Given the description of an element on the screen output the (x, y) to click on. 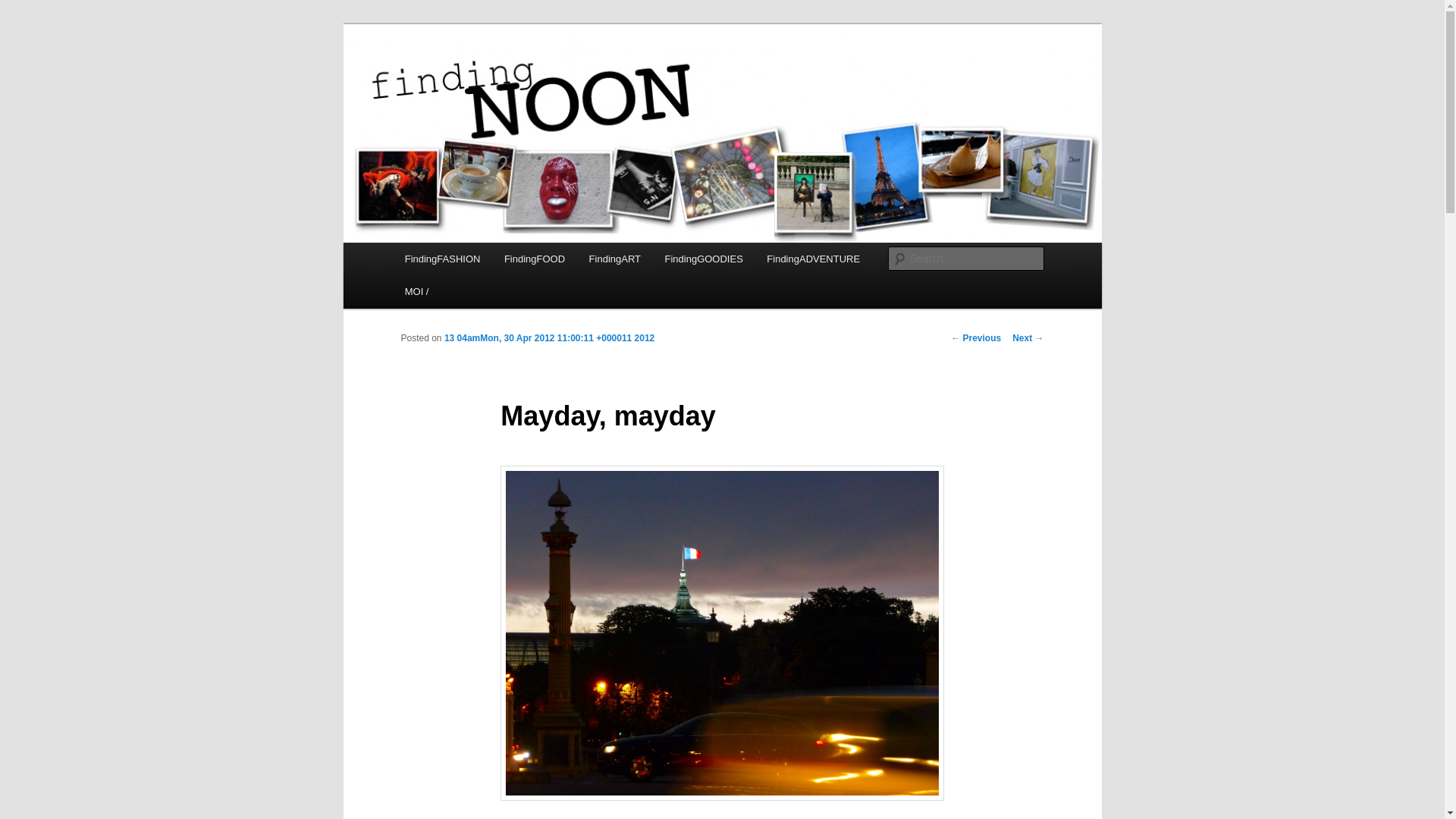
FindingGOODIES (703, 258)
FindingADVENTURE (813, 258)
FindingART (614, 258)
Finding Noon (473, 78)
Search (24, 8)
11:00 am (548, 337)
FindingFASHION (442, 258)
FindingFOOD (534, 258)
